Given the description of an element on the screen output the (x, y) to click on. 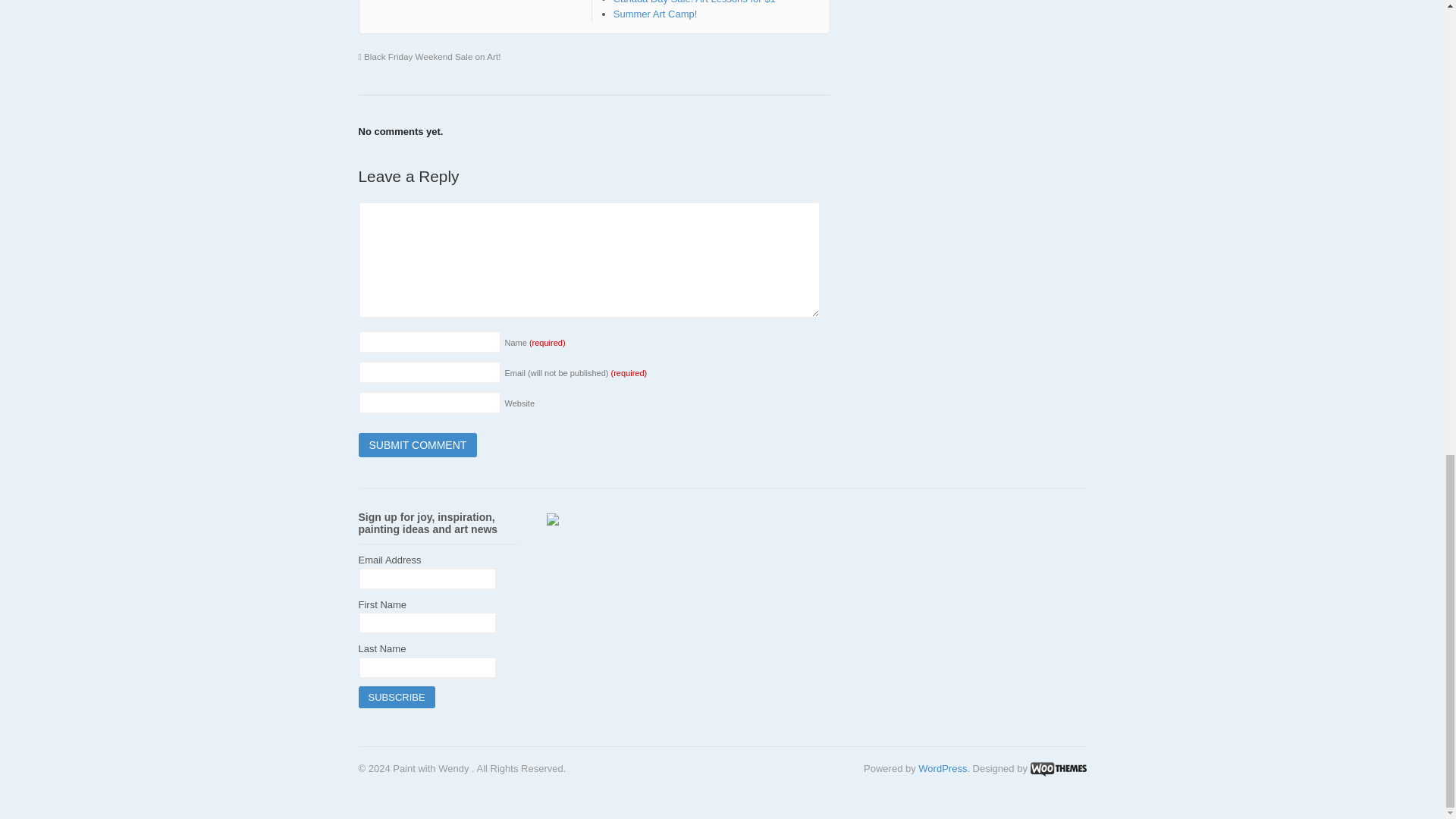
Submit Comment (417, 445)
Black Friday Weekend Sale on Art! (429, 56)
WordPress (942, 767)
Summer Art Camp! (654, 13)
Summer Art Camp! (654, 13)
WooThemes (1057, 767)
Subscribe (395, 697)
Submit Comment (417, 445)
